Given the description of an element on the screen output the (x, y) to click on. 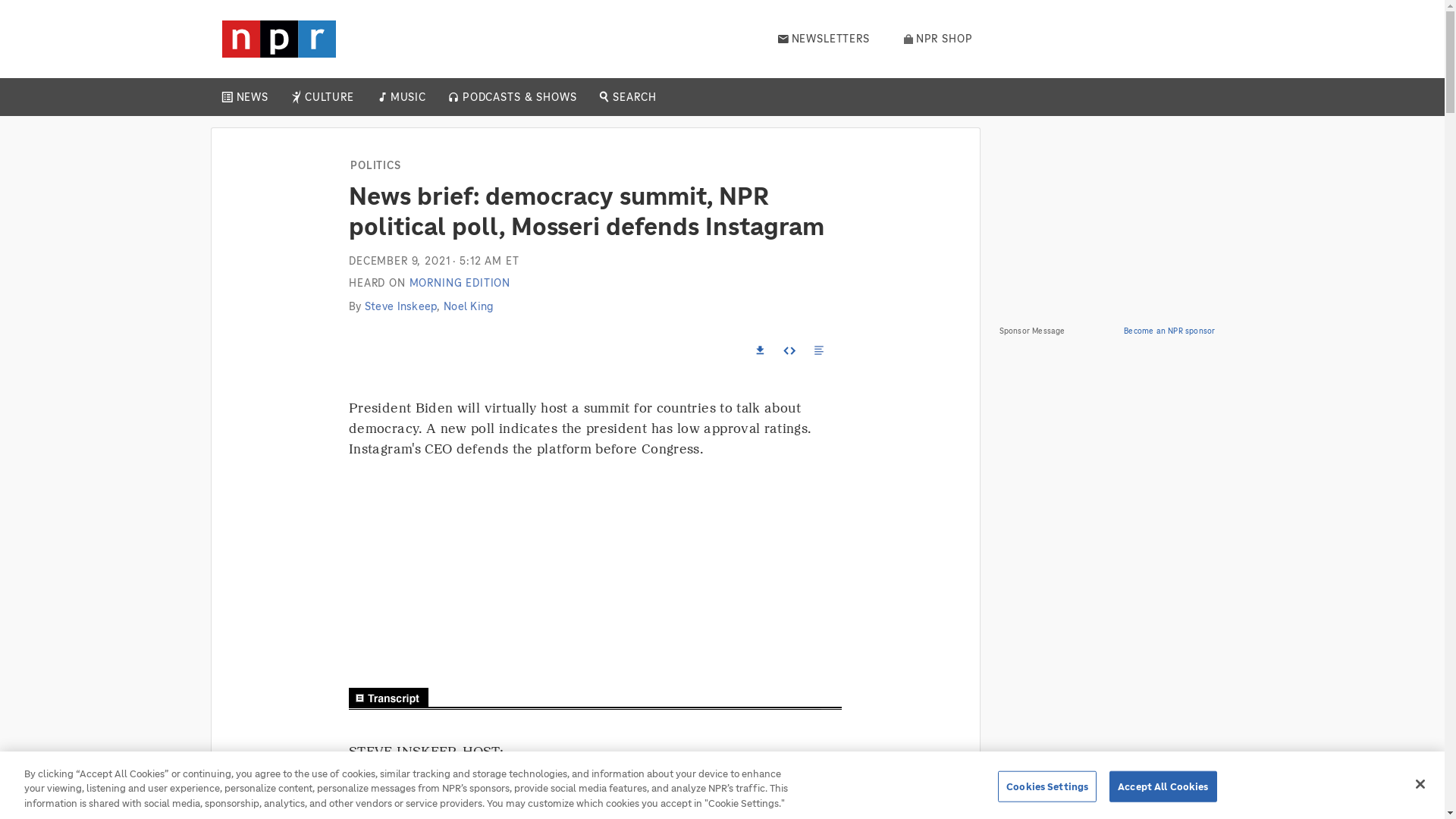
NPR SHOP (938, 38)
MUSIC (407, 96)
CULTURE (328, 96)
NEWSLETTERS (823, 38)
NEWS (251, 96)
